Given the description of an element on the screen output the (x, y) to click on. 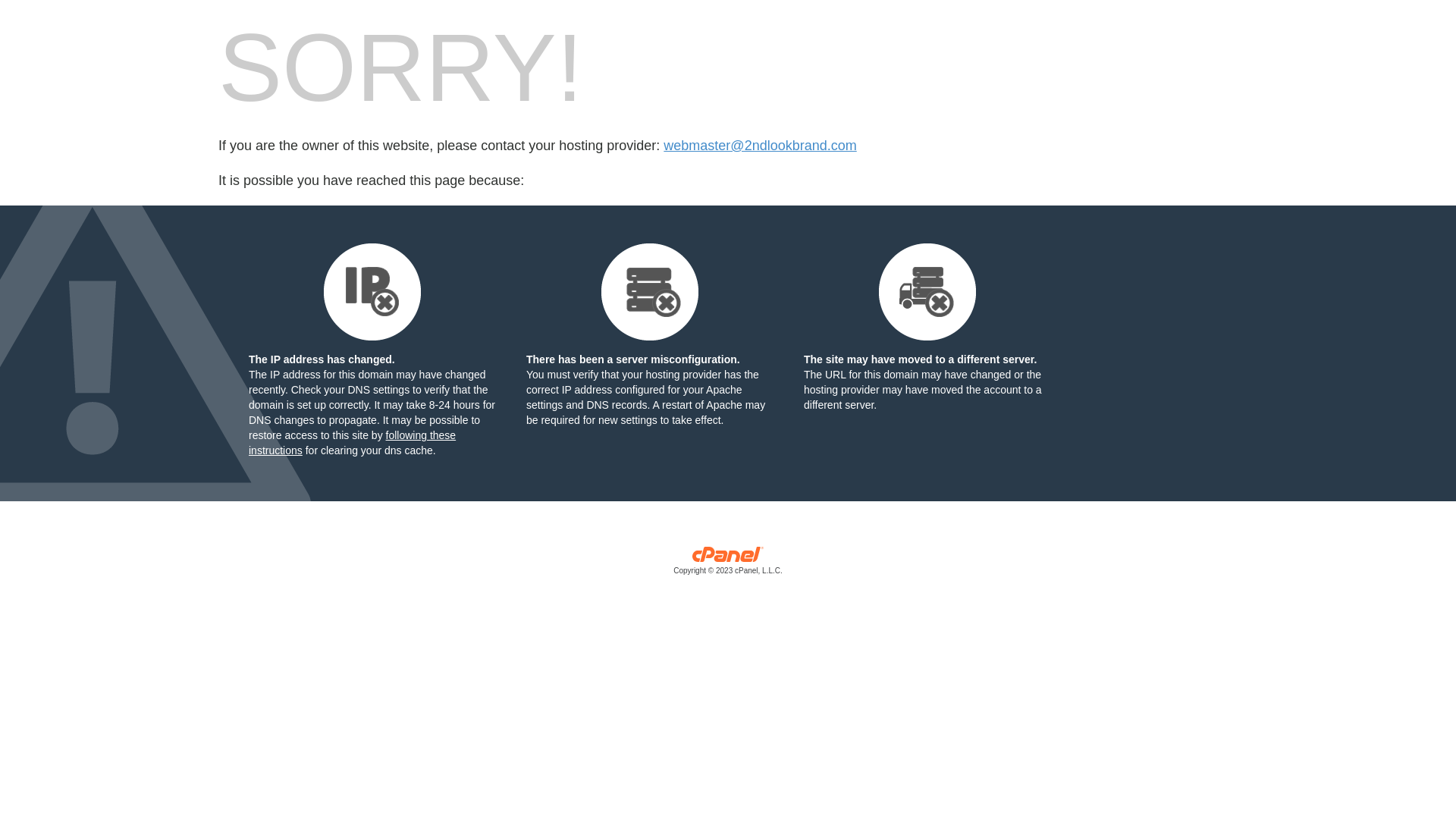
webmaster@2ndlookbrand.com Element type: text (759, 145)
following these instructions Element type: text (351, 442)
